Given the description of an element on the screen output the (x, y) to click on. 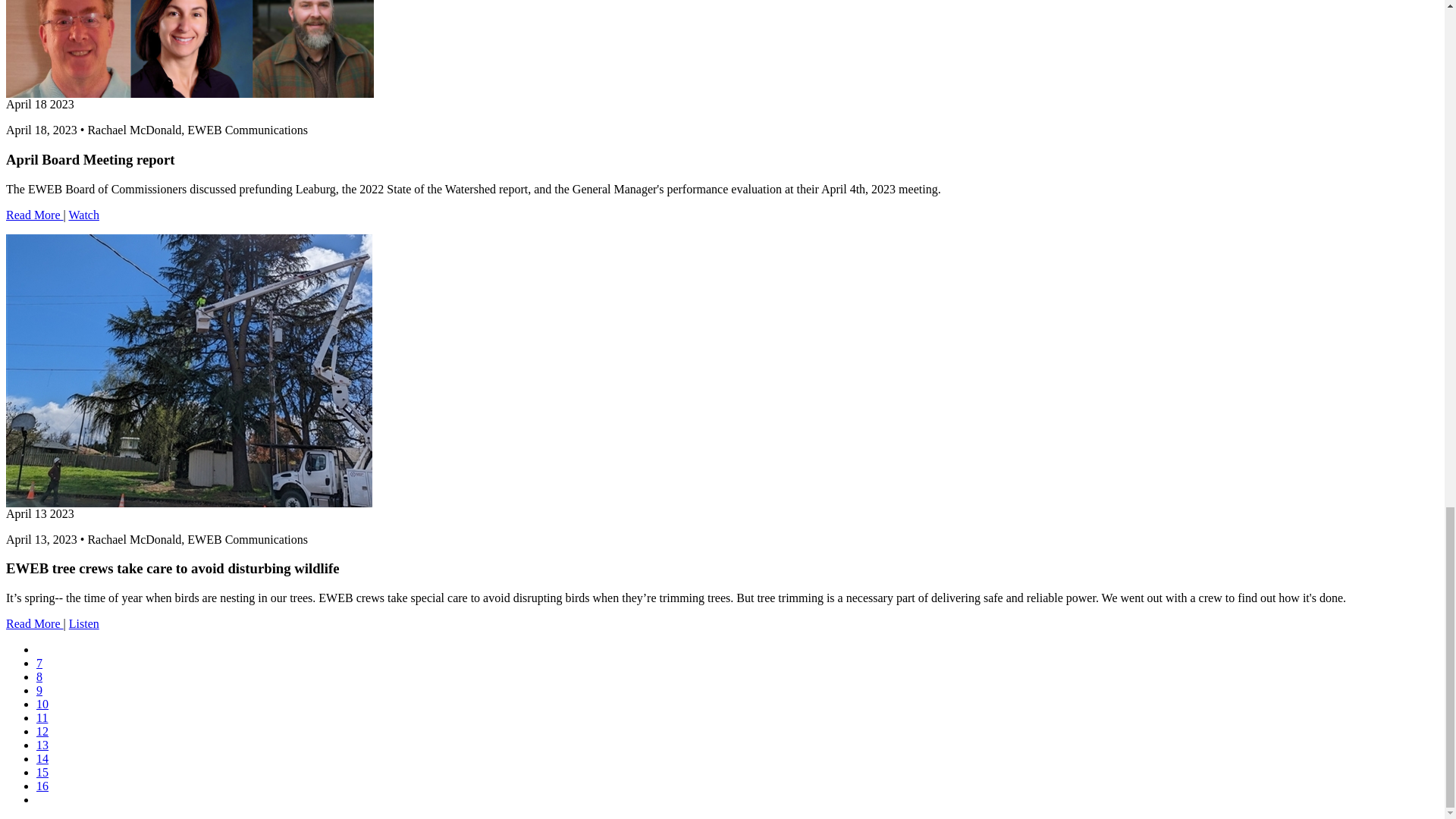
EWEB tree crews take care to avoid disturbing wildlife (34, 623)
Read More (34, 214)
14 (42, 758)
16 (42, 785)
Listen (83, 623)
13 (42, 744)
12 (42, 730)
Watch (83, 214)
15 (42, 771)
April Board Meeting report (34, 214)
10 (42, 703)
Read More (34, 623)
